Given the description of an element on the screen output the (x, y) to click on. 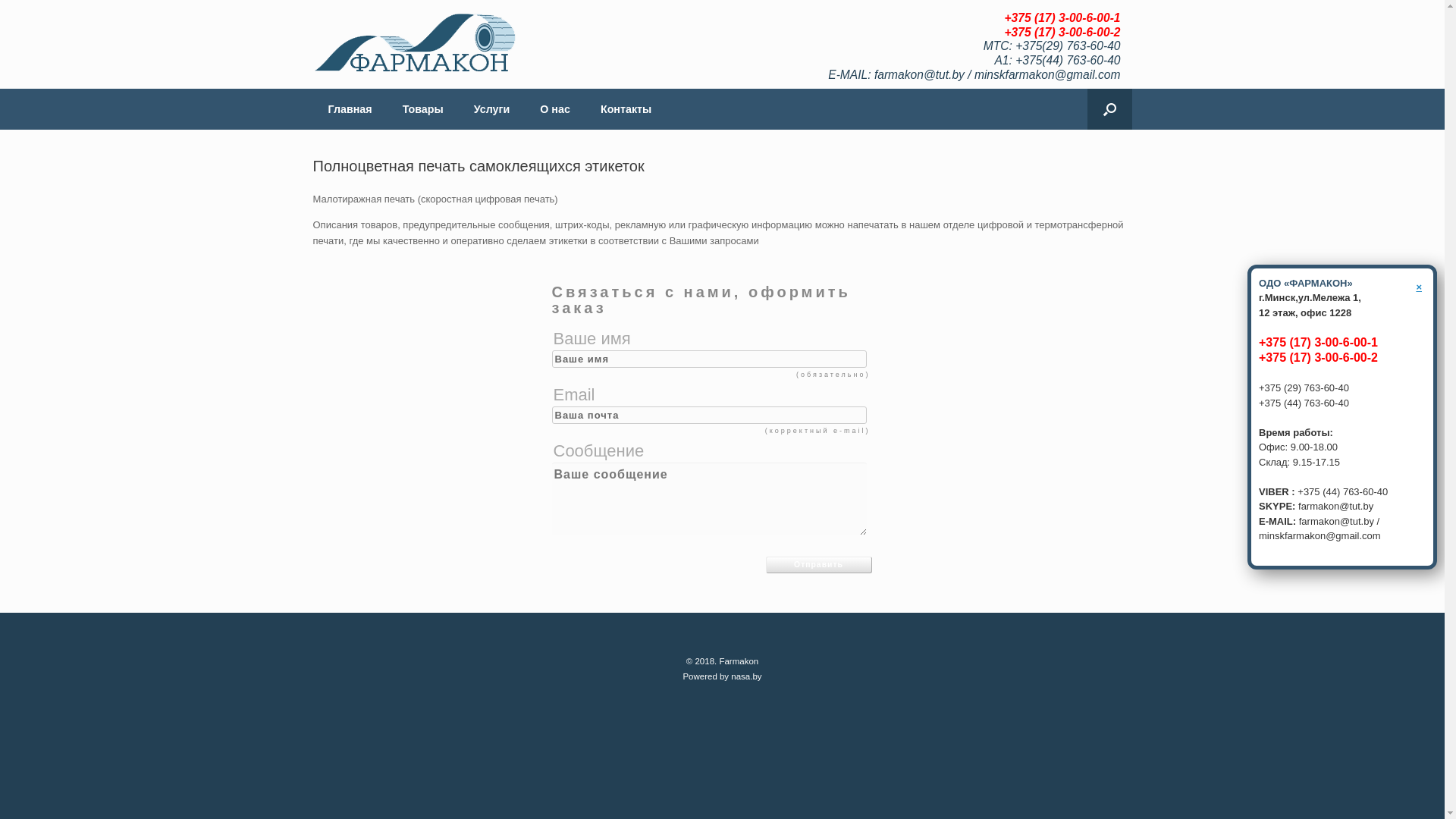
nasa.by Element type: text (746, 675)
